Given the description of an element on the screen output the (x, y) to click on. 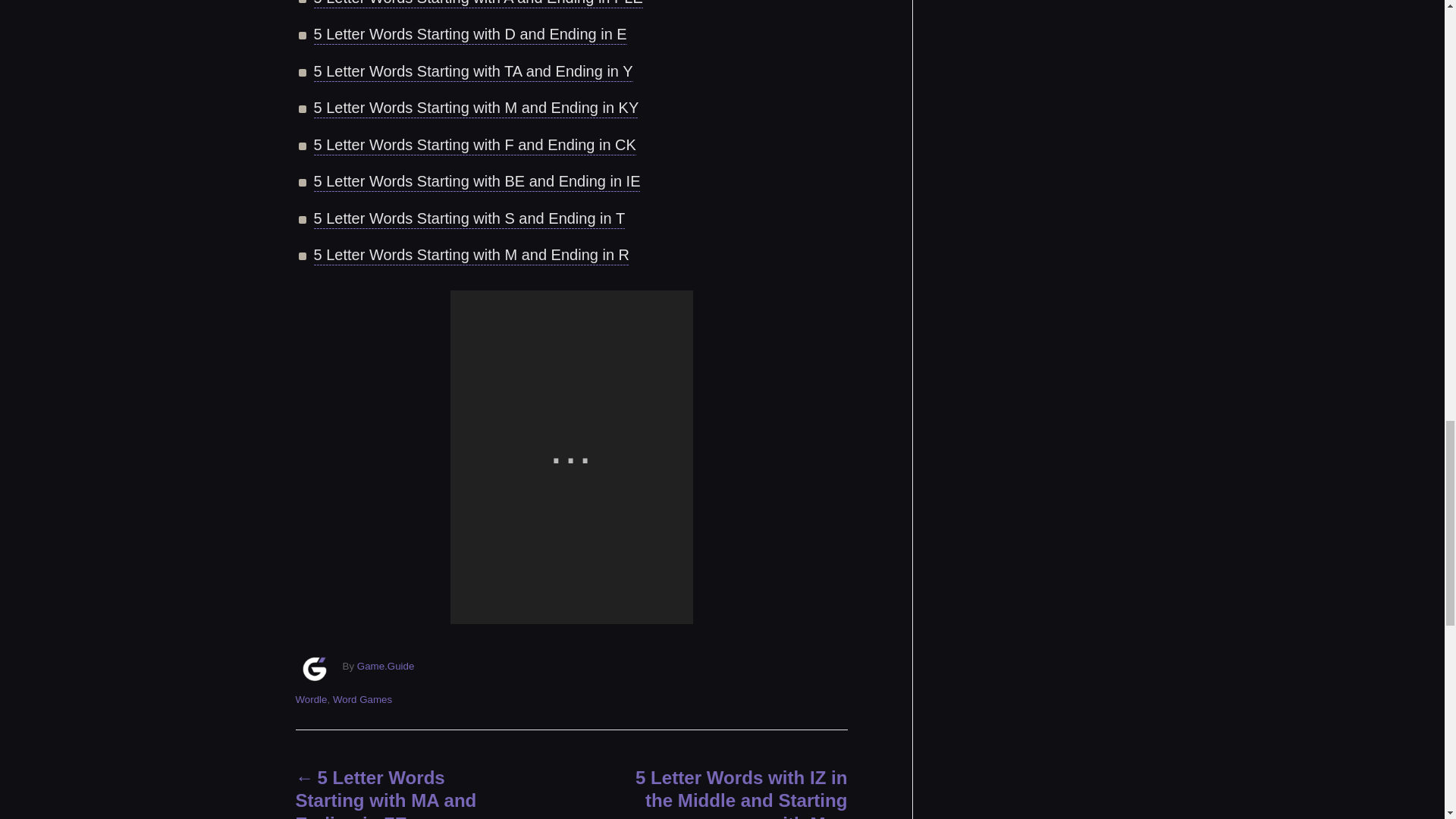
5 Letter Words Starting with BE and Ending in IE (477, 183)
Word Games (362, 699)
5 Letter Words Starting with S and Ending in T (470, 219)
5 Letter Words Starting with MA and Ending in ZE (405, 792)
5 Letter Words Starting with F and Ending in CK (475, 147)
Wordle (311, 699)
5 Letter Words Starting with D and Ending in E (470, 35)
5 Letter Words Starting with TA and Ending in Y (473, 73)
5 Letter Words Starting with F and Ending in CK (475, 147)
Game.Guide (385, 665)
5 Letter Words Starting with BE and Ending in IE (477, 183)
5 Letter Words Starting with M and Ending in R (472, 256)
5 Letter Words Starting with A and Ending in PLE (478, 5)
5 Letter Words Starting with D and Ending in E (470, 35)
5 Letter Words Starting with M and Ending in R (472, 256)
